Given the description of an element on the screen output the (x, y) to click on. 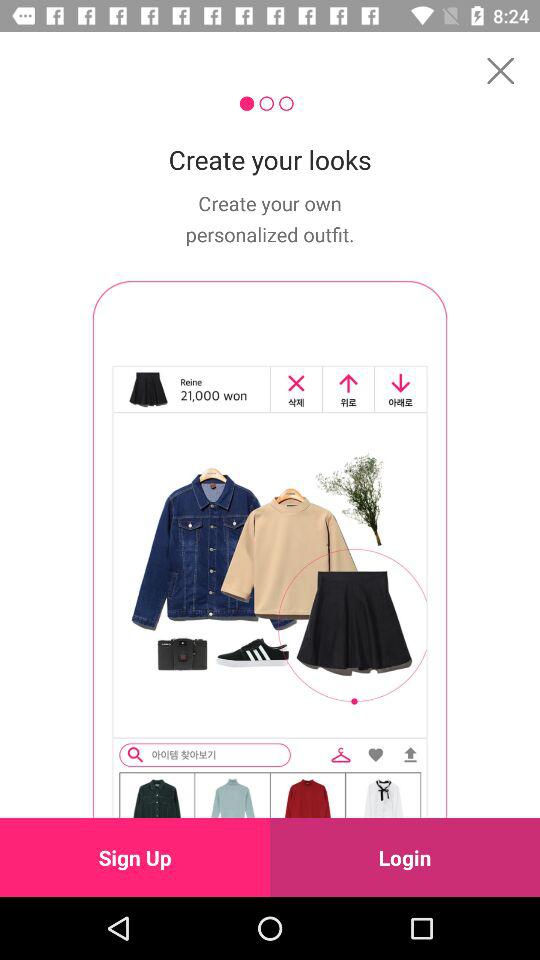
press icon at the bottom left corner (135, 857)
